Given the description of an element on the screen output the (x, y) to click on. 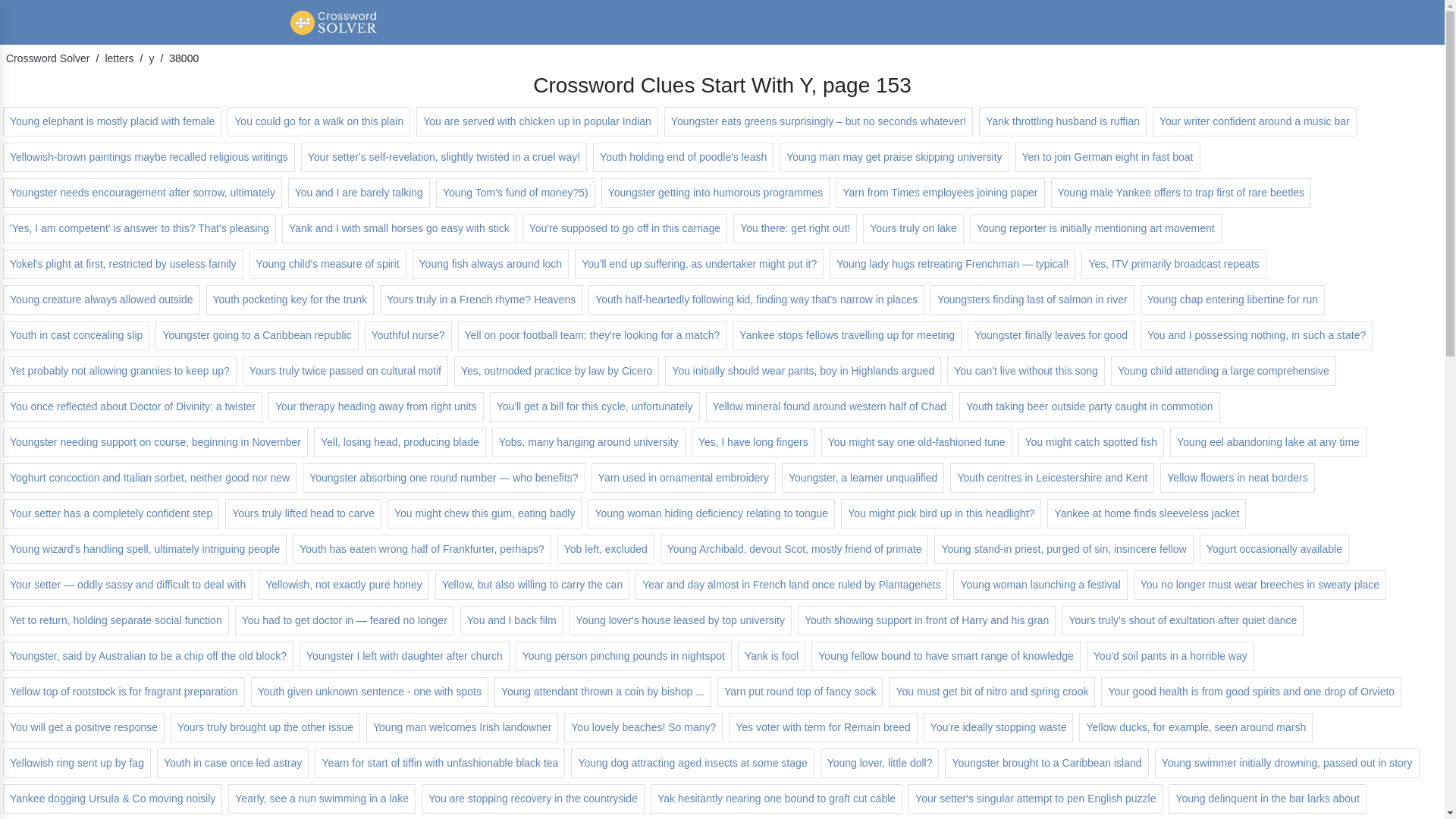
Yours truly in a French rhyme? Heavens (481, 299)
You're supposed to go off in this carriage (625, 228)
Young creature always allowed outside (101, 299)
Yank and I with small horses go easy with stick (399, 228)
Youngster needs encouragement after sorrow, ultimately (142, 193)
Young fish always around loch (490, 264)
Youth pocketing key for the trunk (290, 299)
Youngsters finding last of salmon in river (1032, 299)
Young chap entering libertine for run (1232, 299)
Yokel's plight at first, restricted by useless family (122, 264)
Your writer confident around a music bar (1254, 121)
You are served with chicken up in popular Indian (537, 121)
Yen to join German eight in fast boat (1106, 156)
Yellowish-brown paintings maybe recalled religious writings (148, 156)
